Given the description of an element on the screen output the (x, y) to click on. 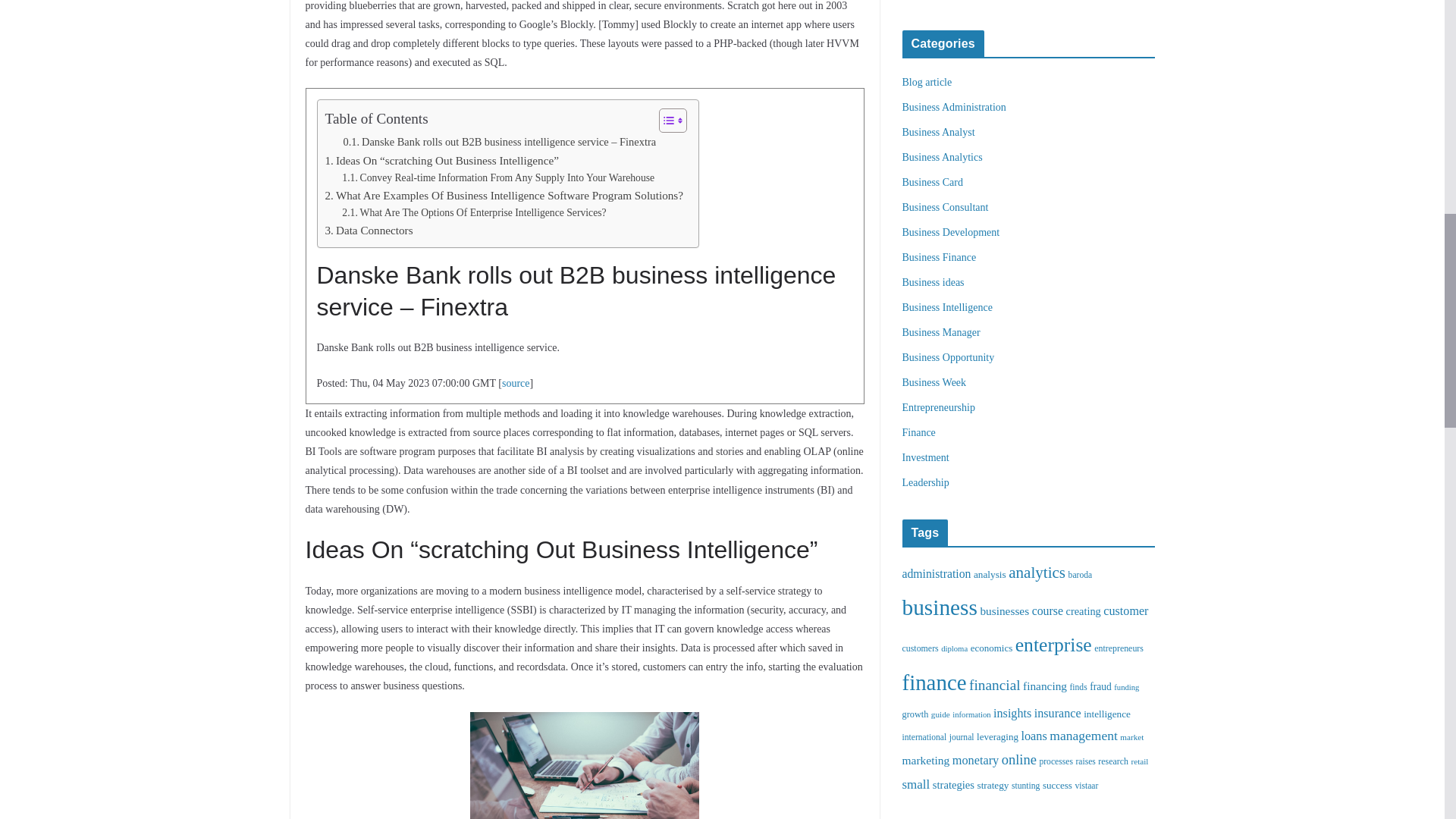
What Are The Options Of Enterprise Intelligence Services? (473, 212)
source (515, 383)
Data Connectors (368, 230)
Data Connectors (368, 230)
What Are The Options Of Enterprise Intelligence Services? (473, 212)
